Given the description of an element on the screen output the (x, y) to click on. 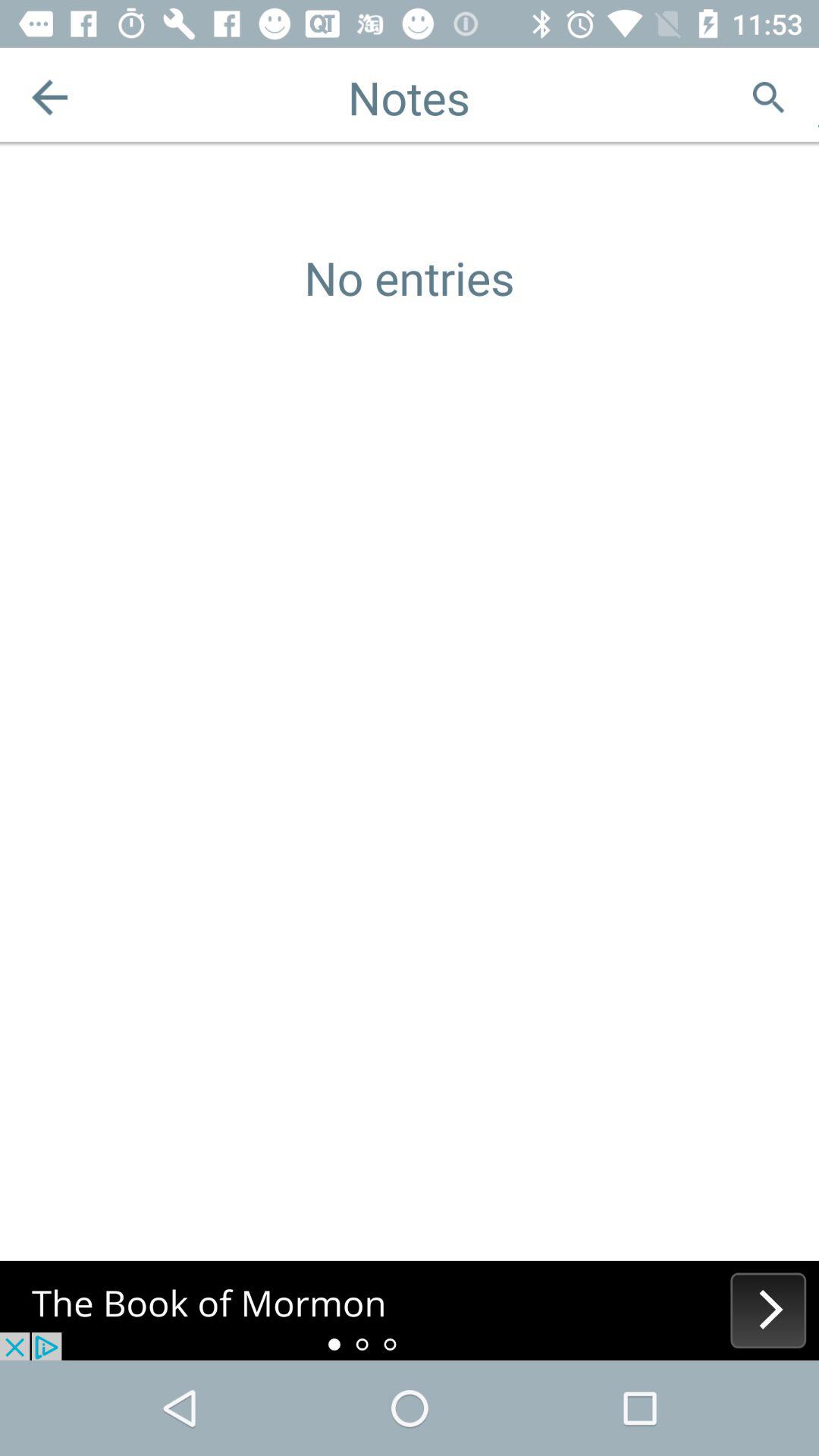
go back (49, 97)
